Given the description of an element on the screen output the (x, y) to click on. 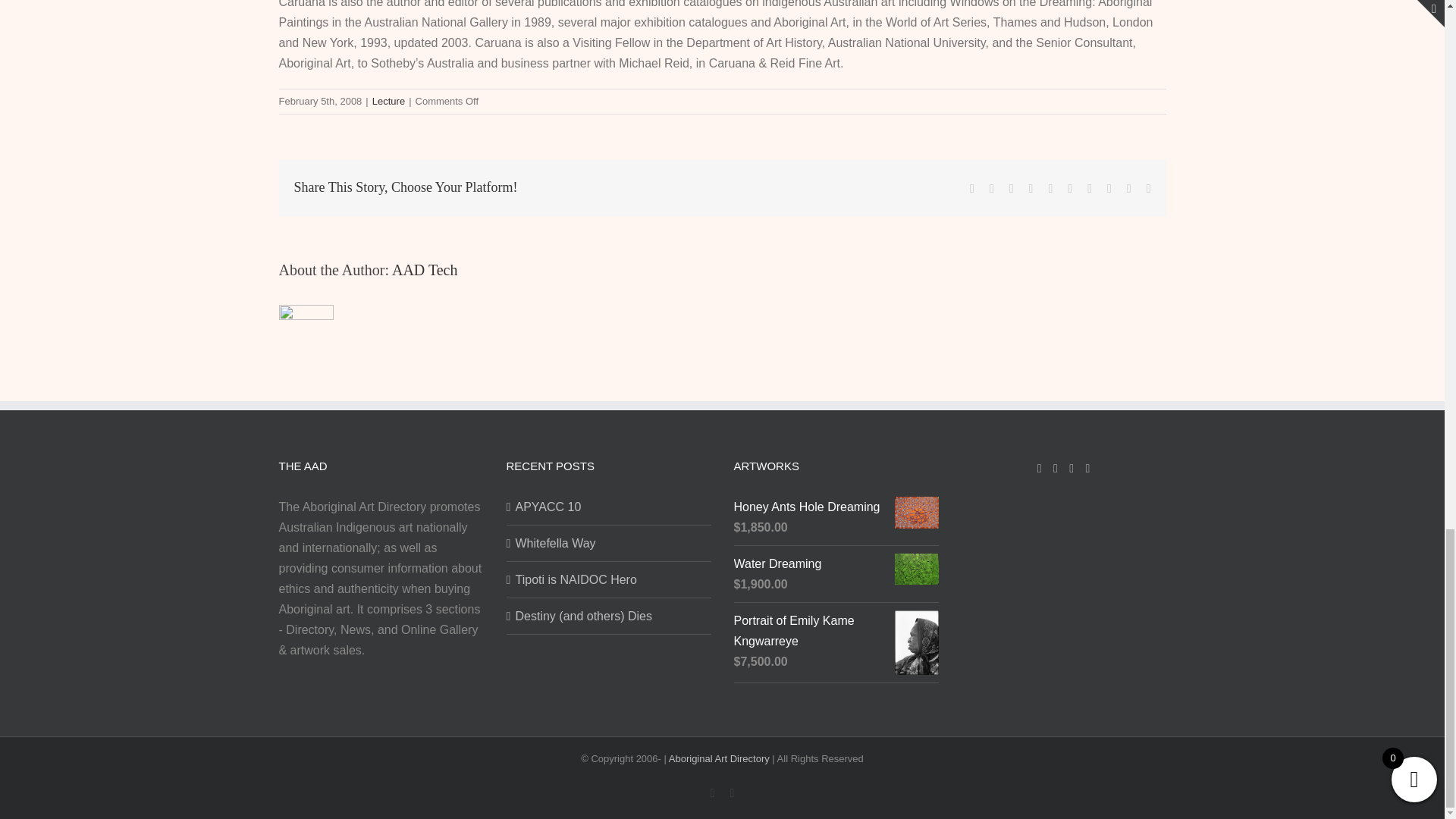
Lecture (388, 101)
Posts by AAD Tech (424, 269)
